Given the description of an element on the screen output the (x, y) to click on. 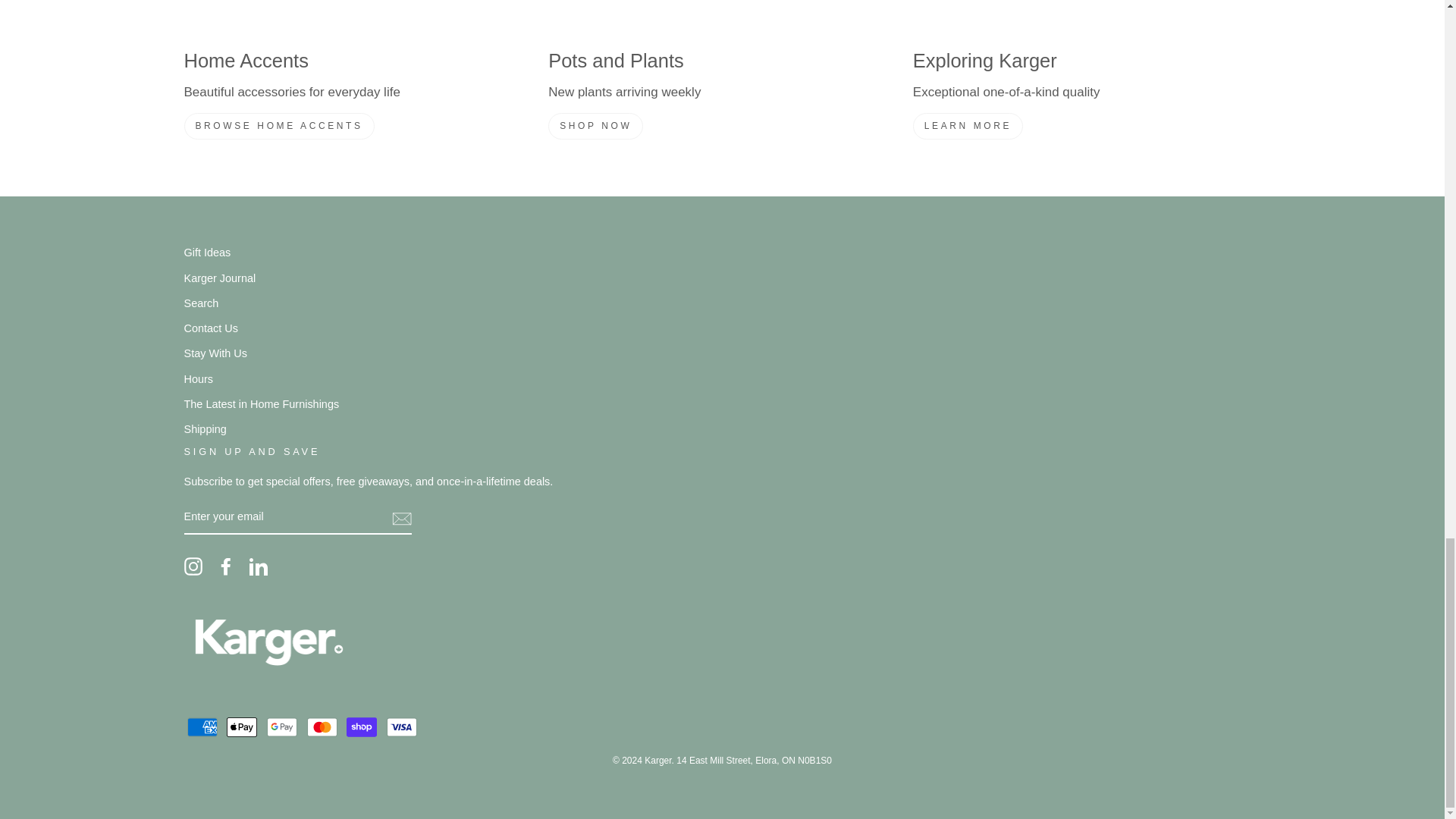
Mastercard (322, 726)
Karger. on LinkedIn (257, 566)
Karger. on Facebook (225, 566)
Apple Pay (242, 726)
American Express (201, 726)
Karger. on Instagram (192, 566)
Google Pay (281, 726)
Shop Pay (361, 726)
